Given the description of an element on the screen output the (x, y) to click on. 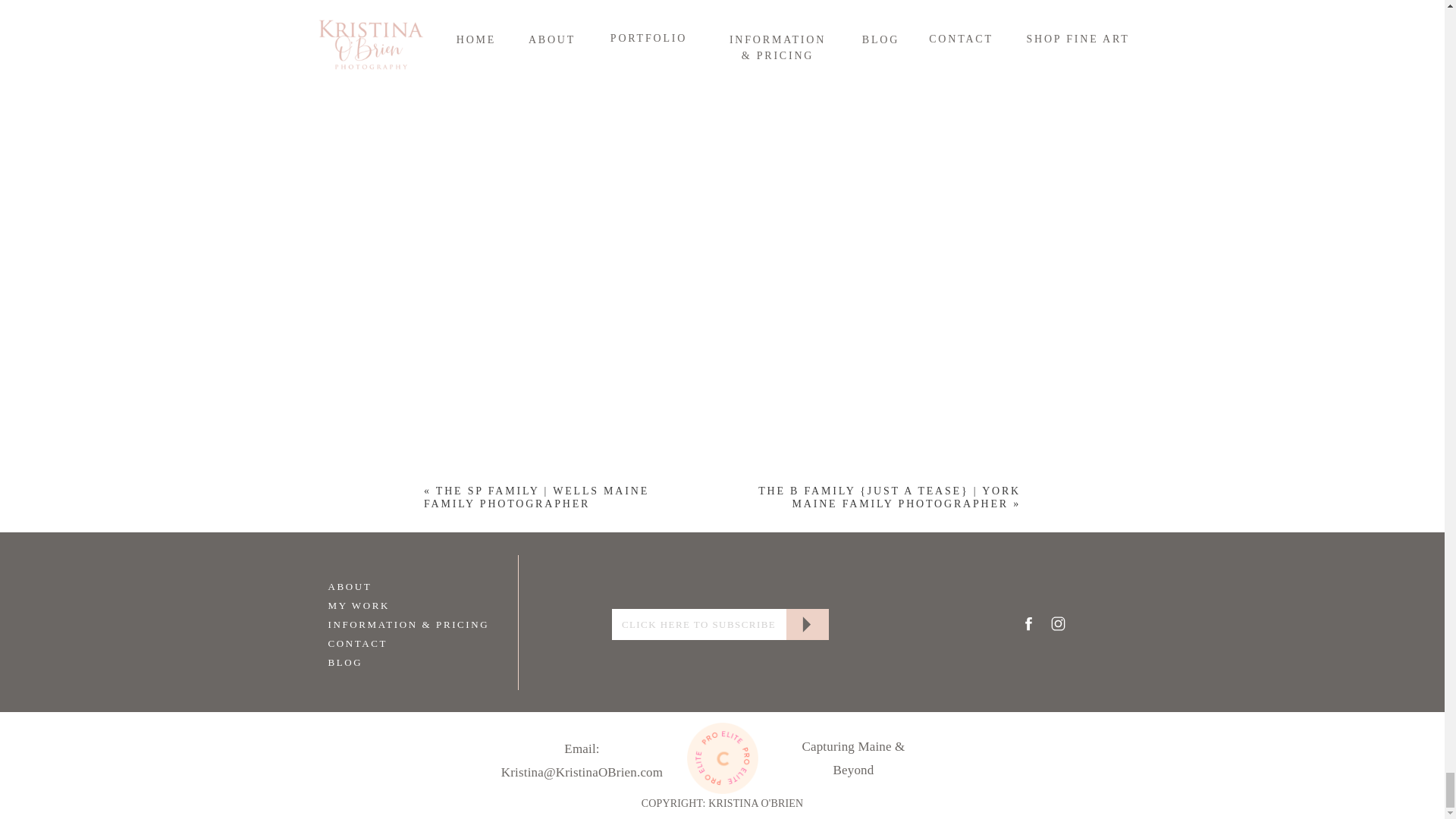
ABOUT (384, 585)
COPYRIGHT: KRISTINA O'BRIEN (722, 803)
CONTACT (384, 642)
BLOG (384, 661)
MY WORK (384, 604)
